Given the description of an element on the screen output the (x, y) to click on. 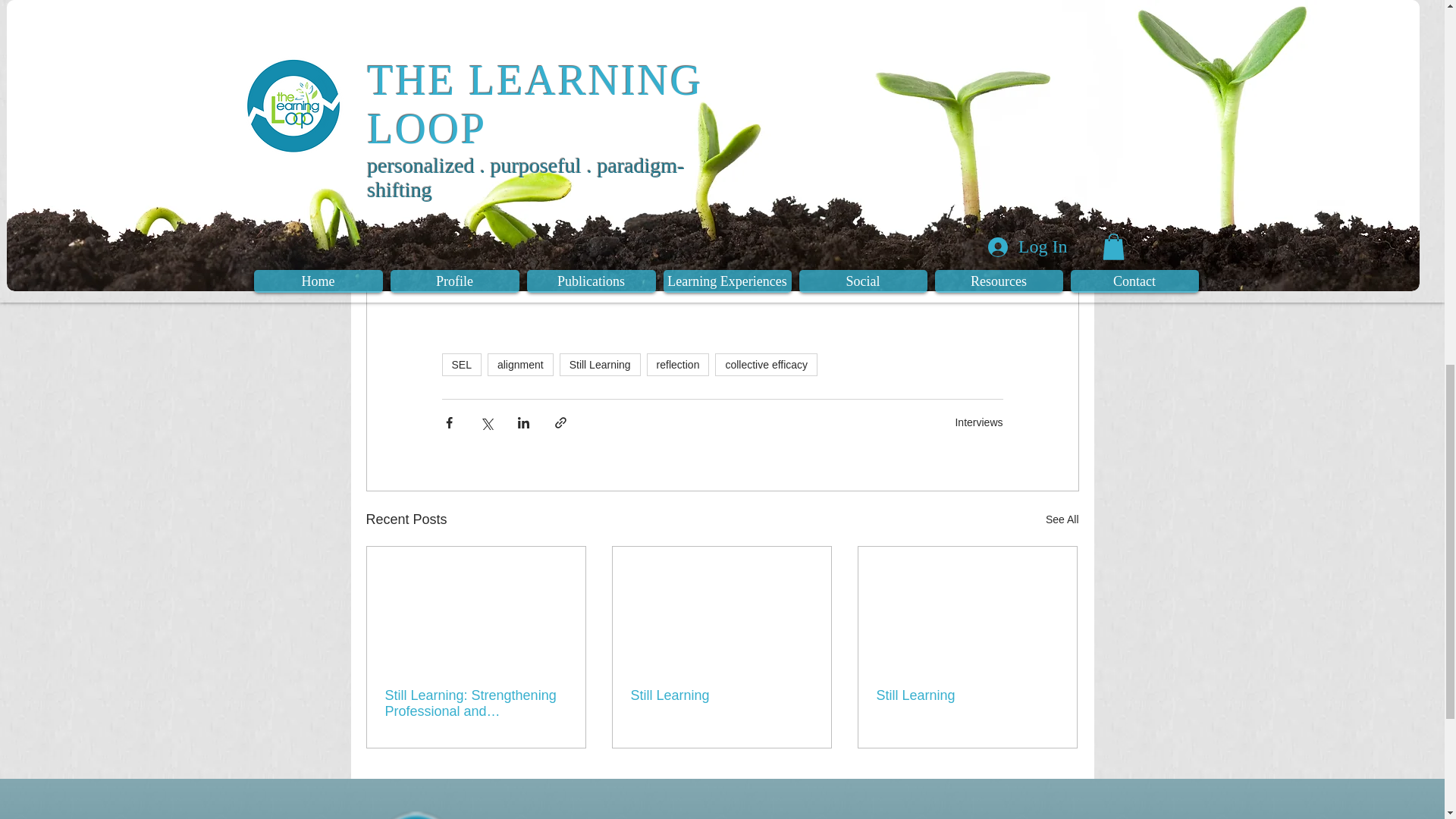
SEL (460, 363)
